Given the description of an element on the screen output the (x, y) to click on. 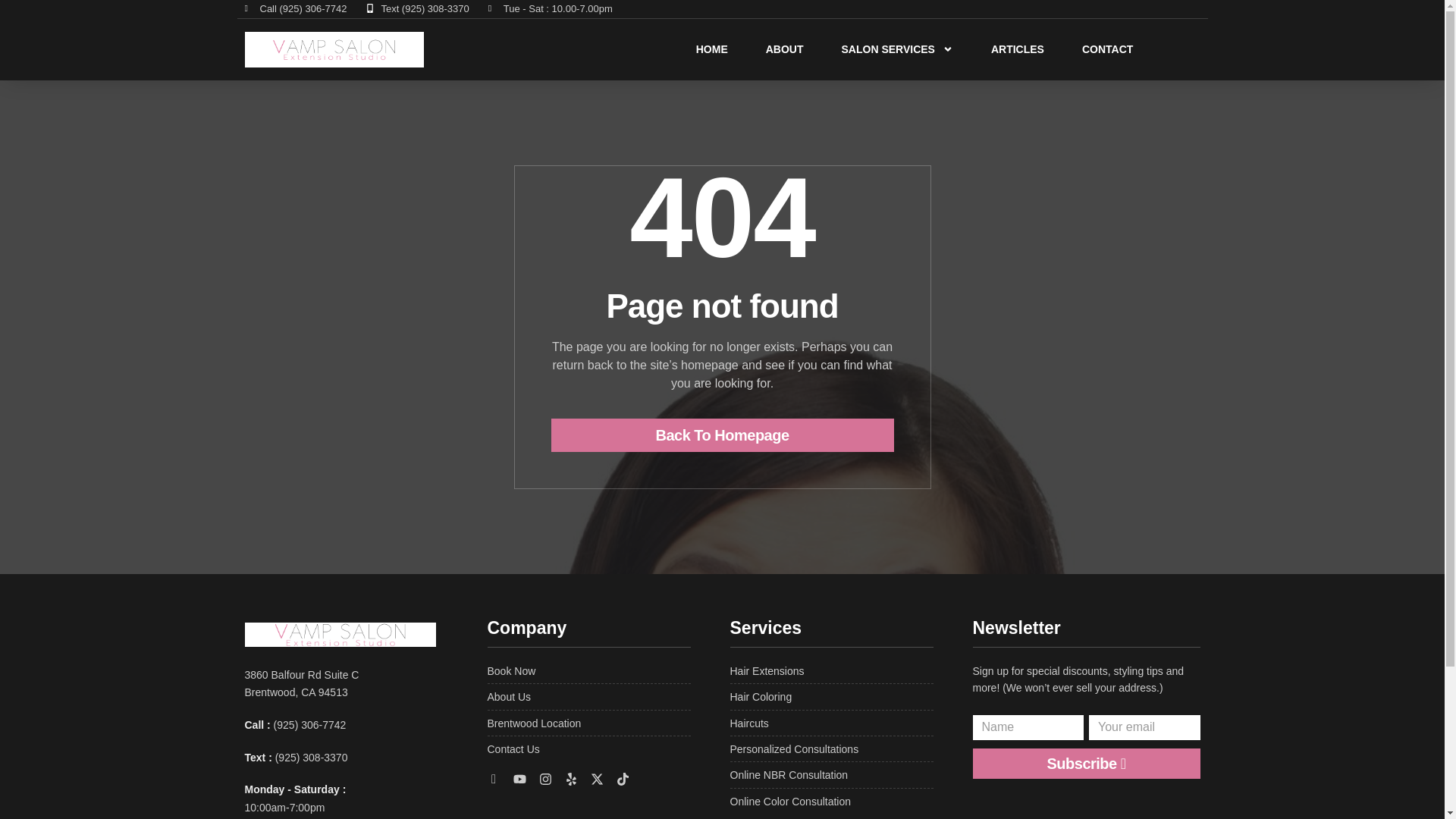
Book Now (588, 670)
Back To Homepage (721, 435)
Hair Extensions (831, 670)
Brentwood Location (588, 723)
Haircuts (831, 723)
SALON SERVICES (897, 49)
Hair Coloring (831, 696)
Contact Us (588, 749)
About Us (588, 696)
